Given the description of an element on the screen output the (x, y) to click on. 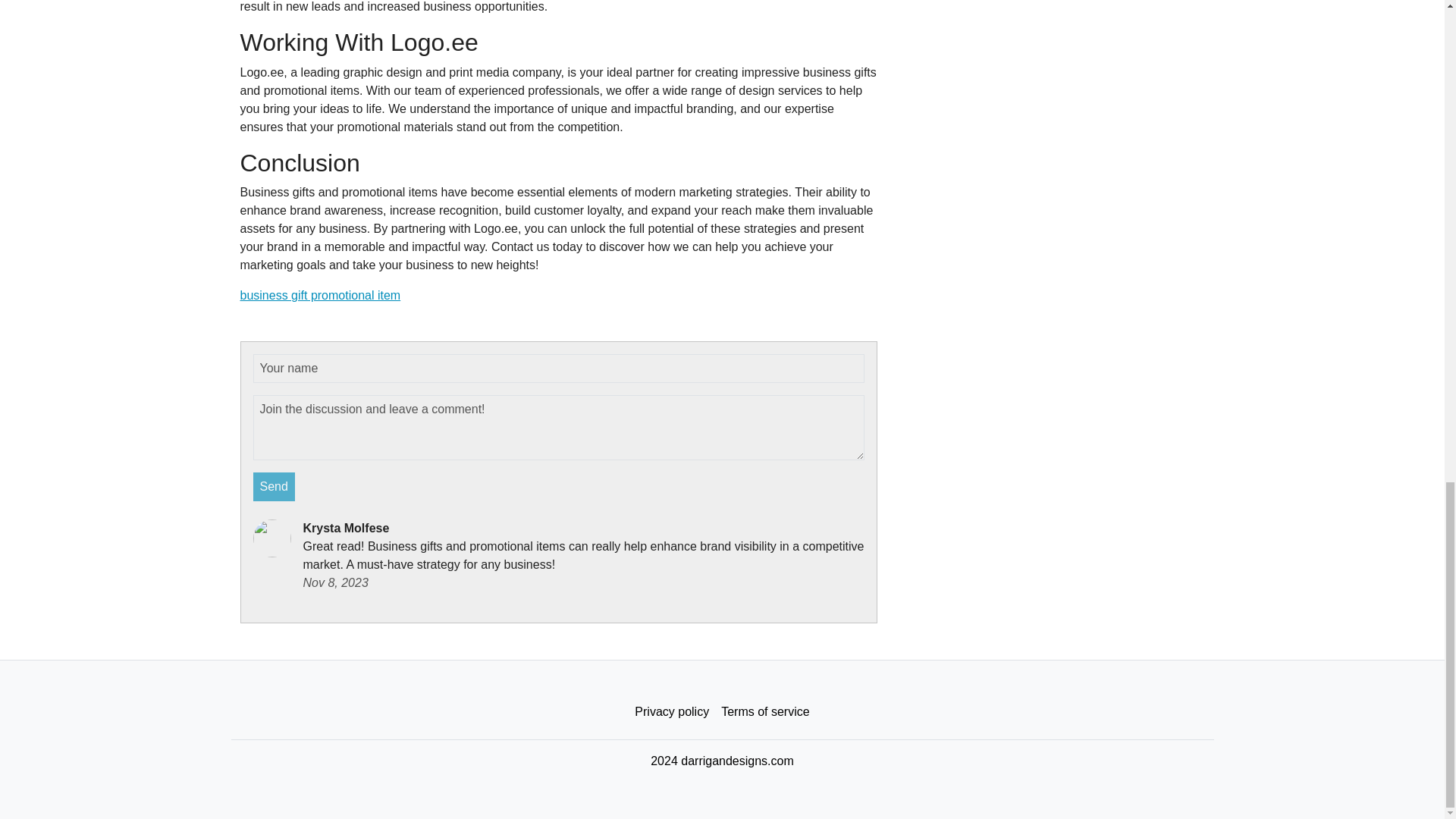
Send (274, 486)
business gift promotional item (320, 295)
Terms of service (764, 711)
Send (274, 486)
Privacy policy (671, 711)
